Given the description of an element on the screen output the (x, y) to click on. 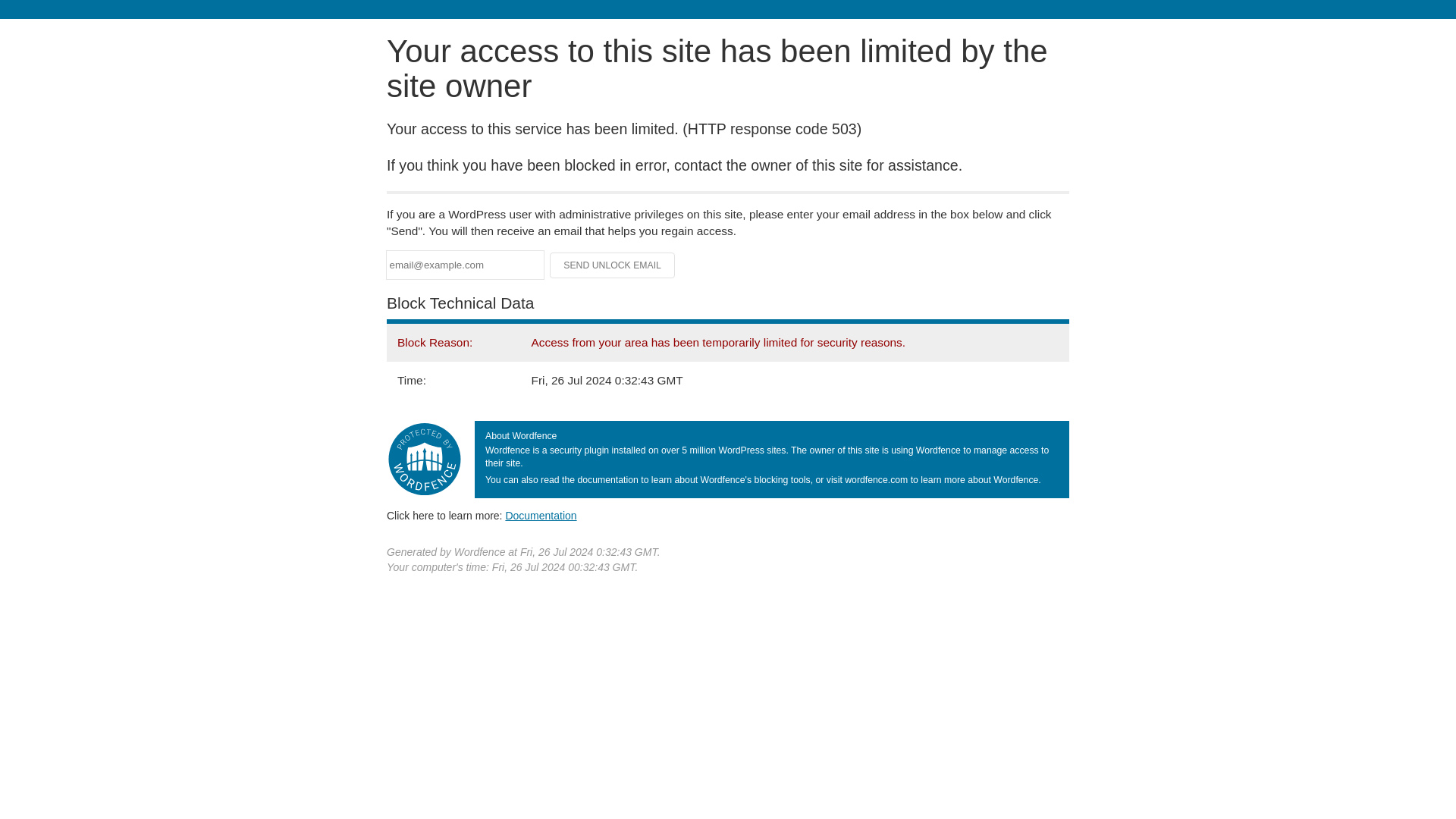
Send Unlock Email (612, 265)
Send Unlock Email (612, 265)
Documentation (540, 515)
